Given the description of an element on the screen output the (x, y) to click on. 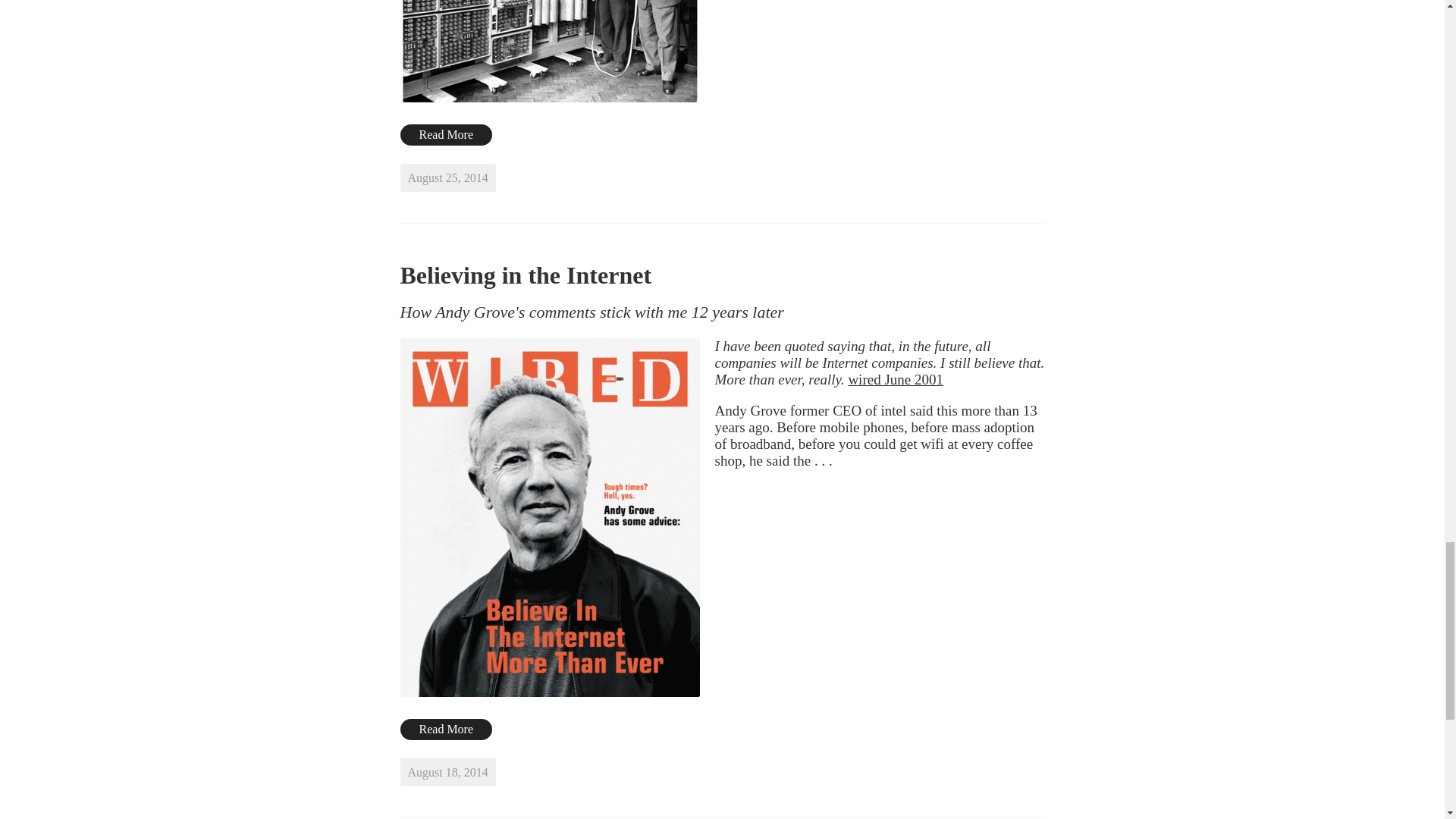
wired June 2001 (895, 379)
Read More (446, 134)
Read More (446, 729)
Believing in the Internet (526, 275)
